Given the description of an element on the screen output the (x, y) to click on. 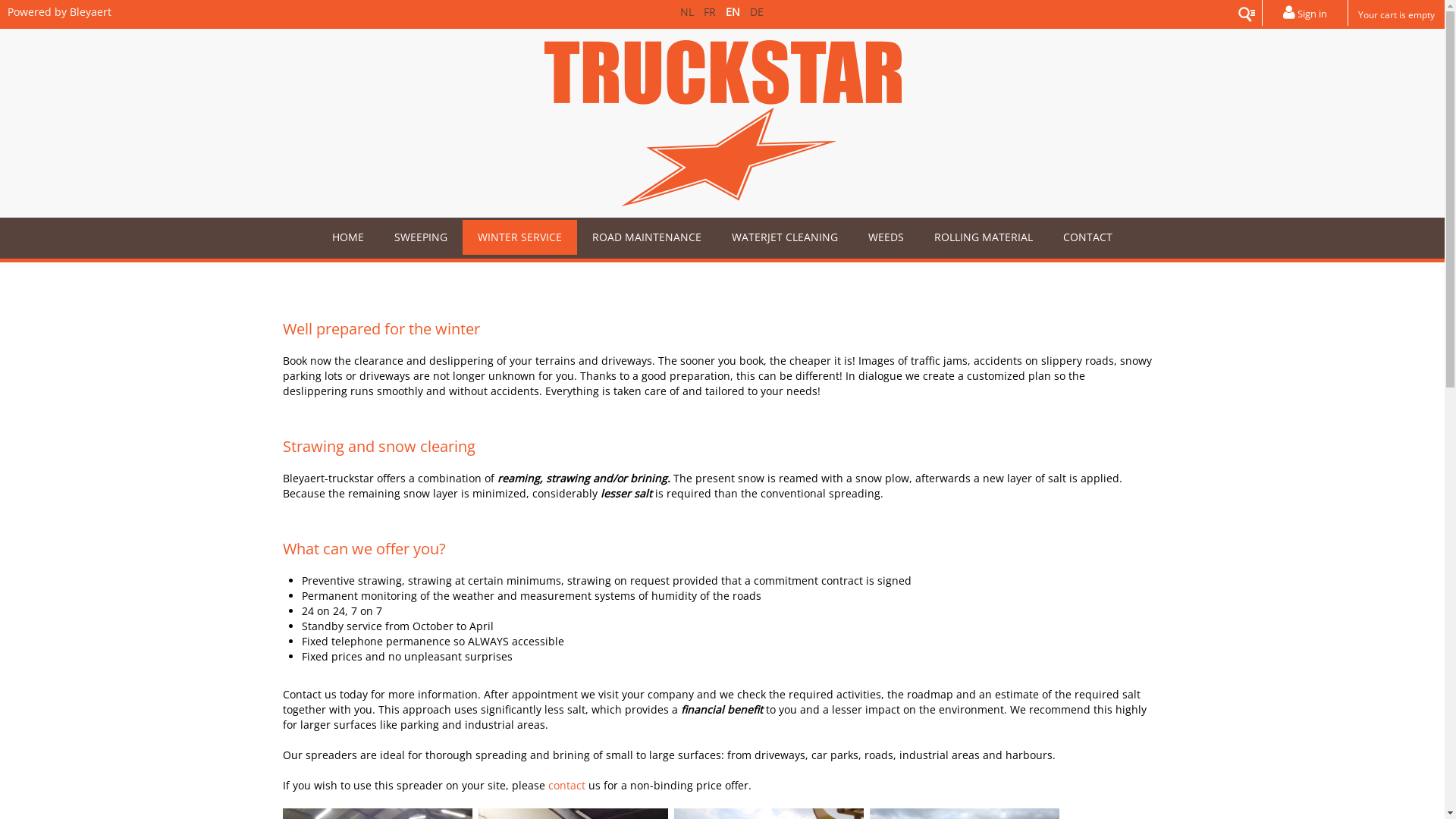
SWEEPING Element type: text (420, 236)
Search  Element type: text (1247, 14)
WEEDS Element type: text (886, 236)
FR Element type: text (709, 11)
ROLLING MATERIAL Element type: text (983, 236)
CONTACT Element type: text (1087, 236)
NL Element type: text (686, 11)
HOME Element type: text (347, 236)
Sign in Element type: text (1305, 12)
contact Element type: text (565, 785)
Your cart is empty Element type: text (1396, 14)
ROAD MAINTENANCE Element type: text (646, 236)
DE Element type: text (756, 11)
WINTER SERVICE Element type: text (519, 236)
WATERJET CLEANING Element type: text (784, 236)
